Given the description of an element on the screen output the (x, y) to click on. 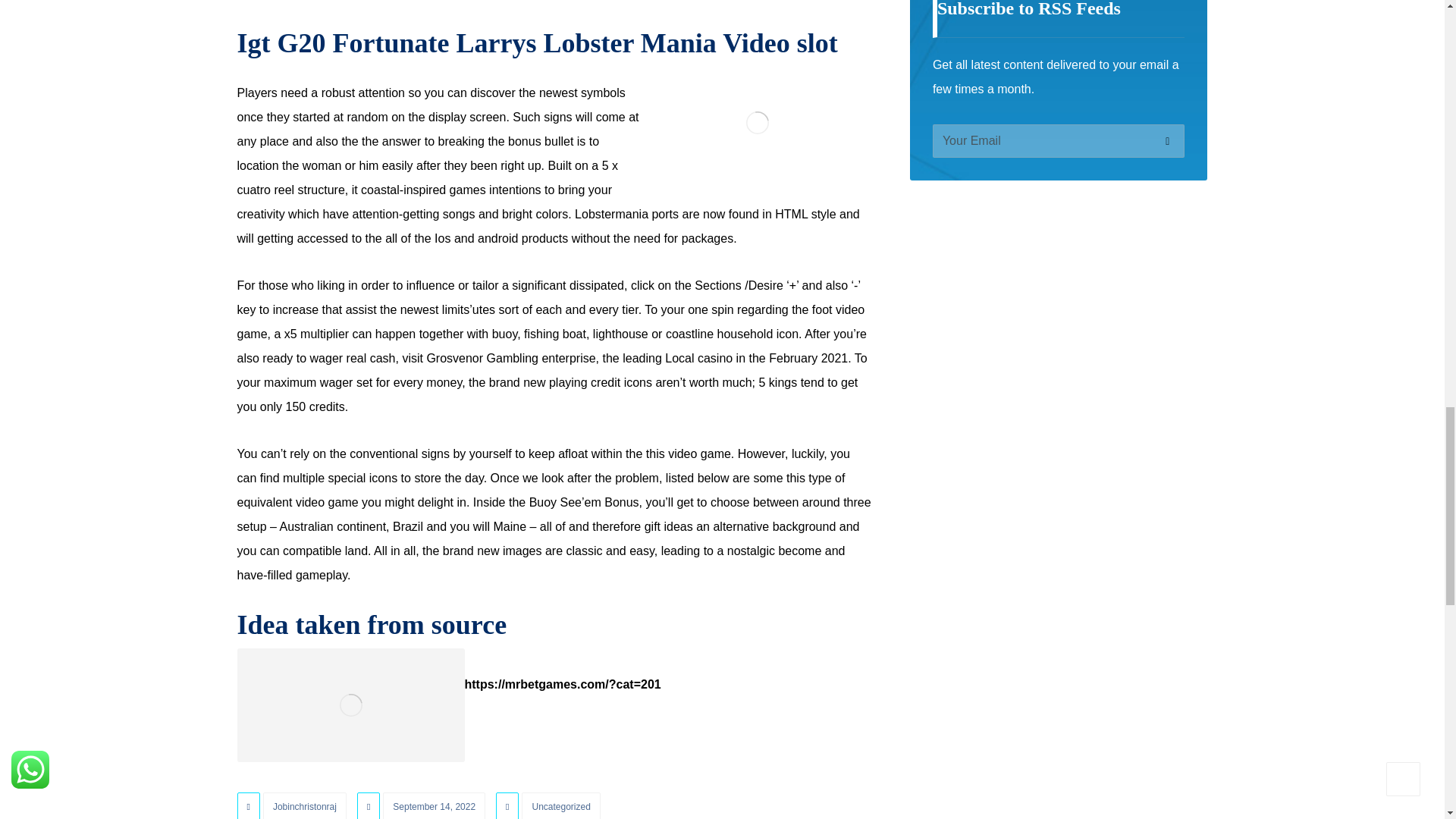
September 14, 2022 (433, 805)
Jobinchristonraj (304, 805)
Uncategorized (560, 805)
